Given the description of an element on the screen output the (x, y) to click on. 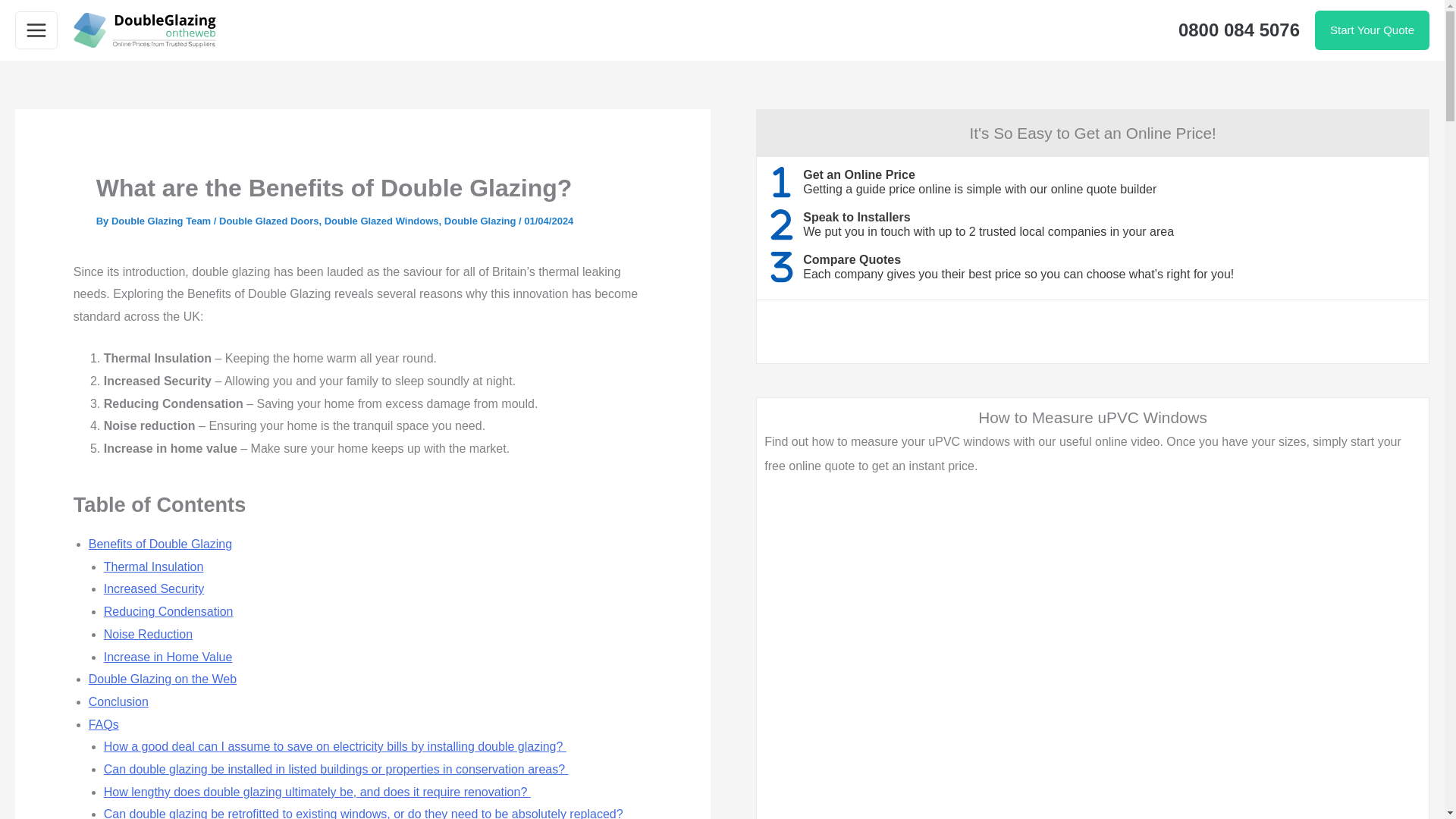
Benefits of Double Glazing (159, 543)
View all posts by Double Glazing Team (163, 220)
Double Glazing (480, 220)
Start Your Quote (1371, 29)
Double Glazed Windows (381, 220)
Thermal Insulation (153, 566)
Conclusion (118, 701)
